Given the description of an element on the screen output the (x, y) to click on. 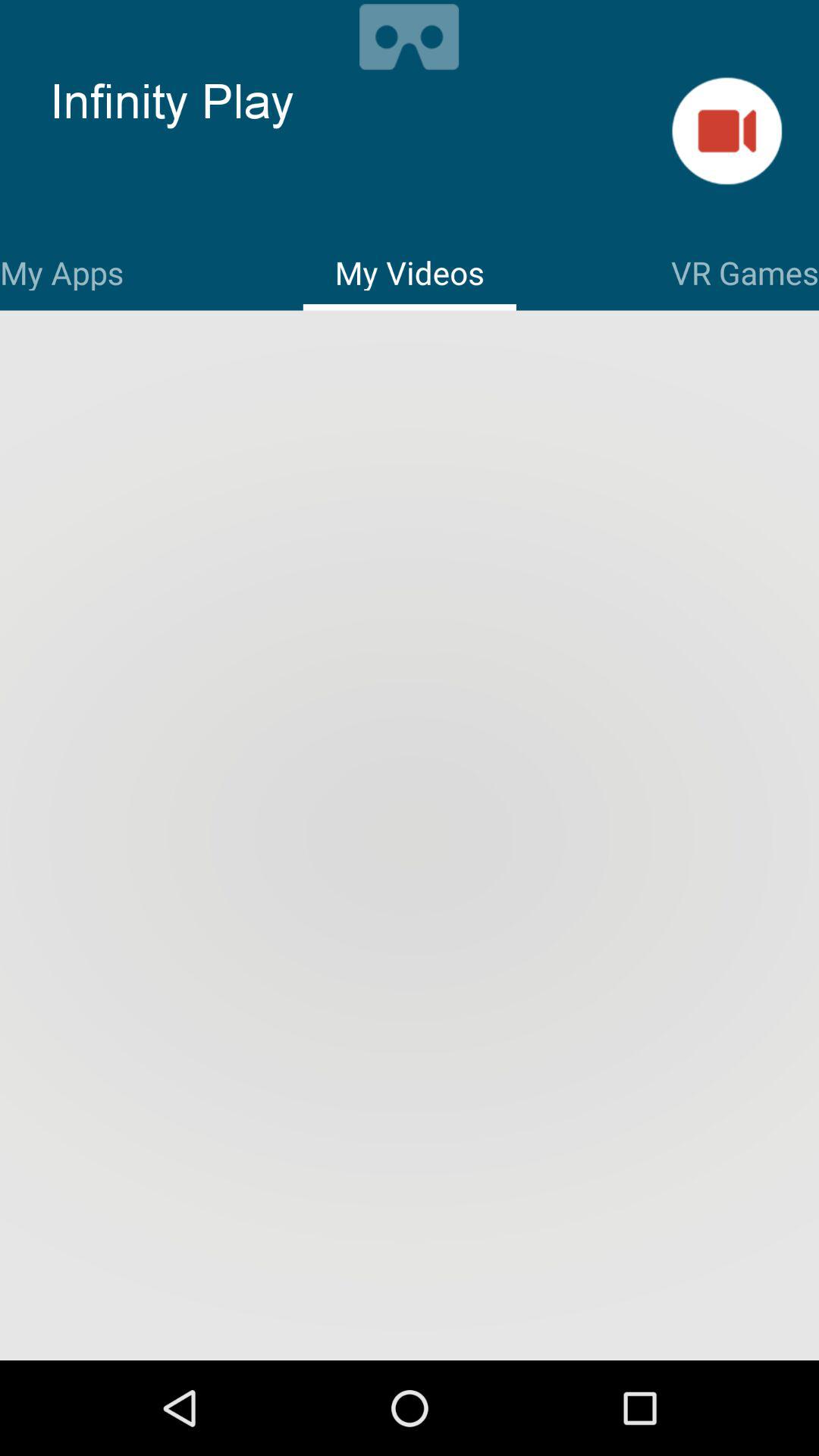
record a video (726, 130)
